Given the description of an element on the screen output the (x, y) to click on. 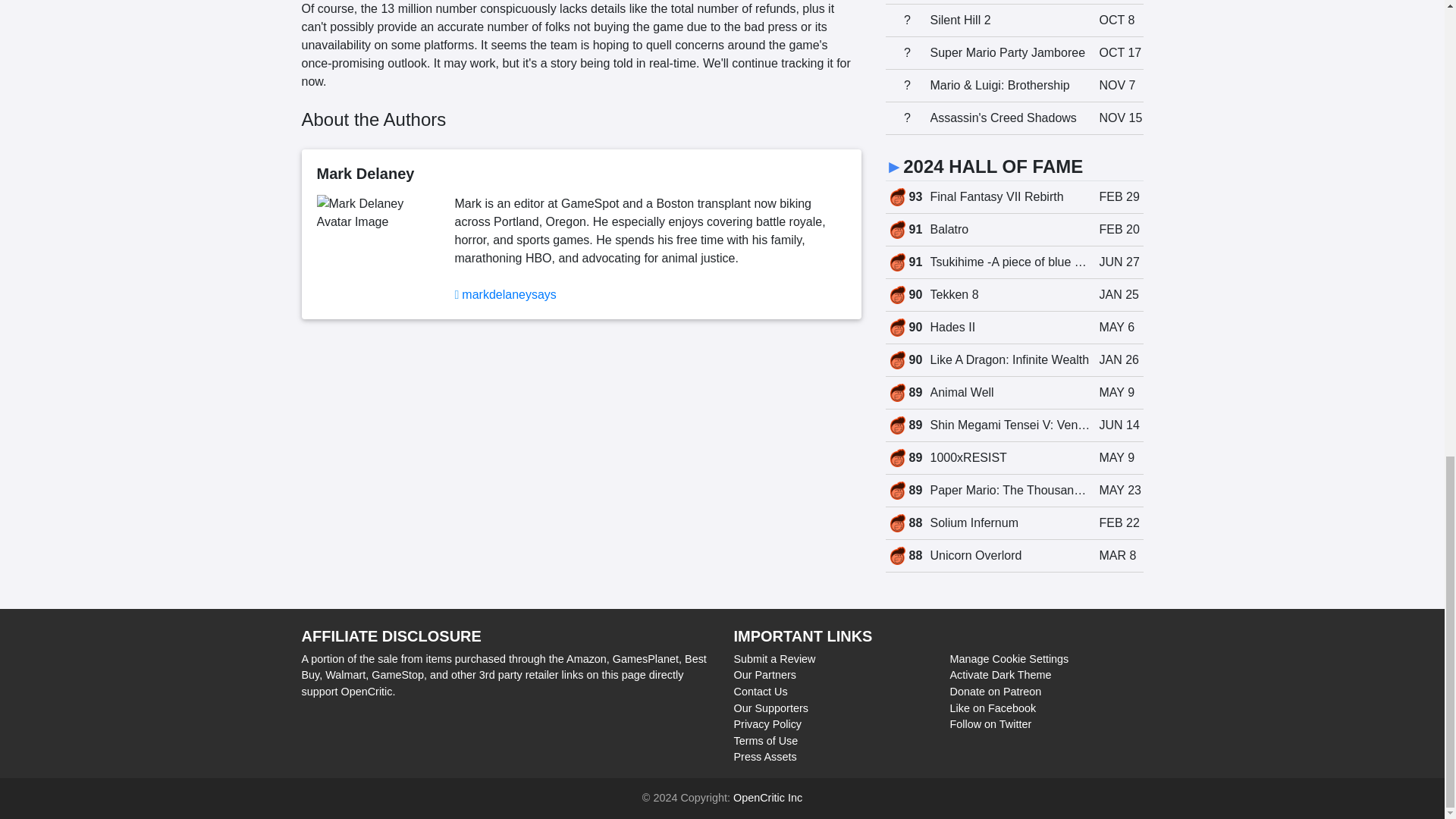
markdelaneysays (1013, 2)
Mark Delaney (508, 294)
